Given the description of an element on the screen output the (x, y) to click on. 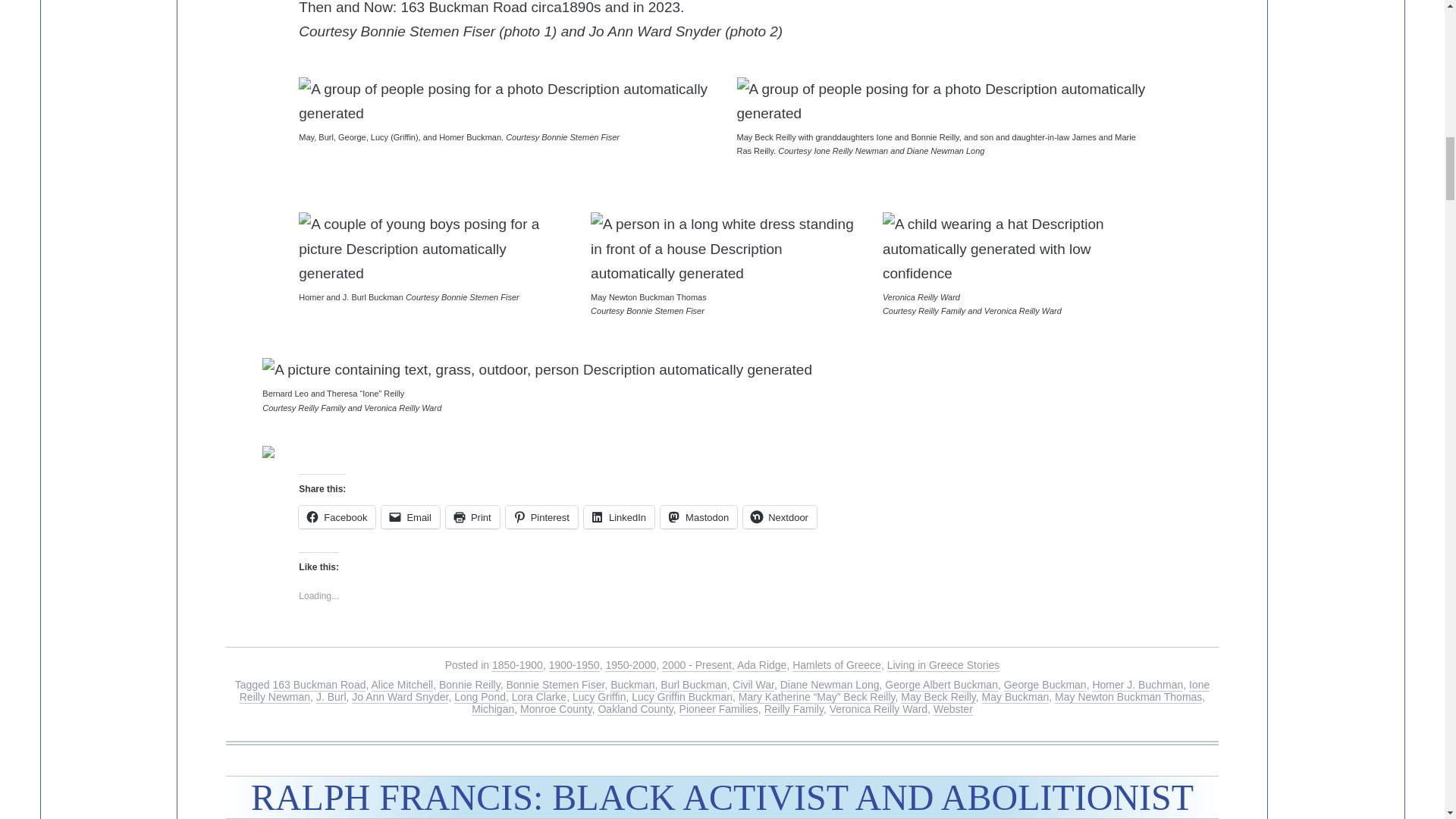
Share by email (274, 457)
Facebook (336, 517)
Pinterest (541, 517)
Click to email a link to a friend (410, 517)
Click to print (472, 517)
Click to share on Nextdoor (779, 517)
Click to share on Facebook (336, 517)
Click to share on Pinterest (541, 517)
Click to share on Mastodon (698, 517)
Email (410, 517)
